Given the description of an element on the screen output the (x, y) to click on. 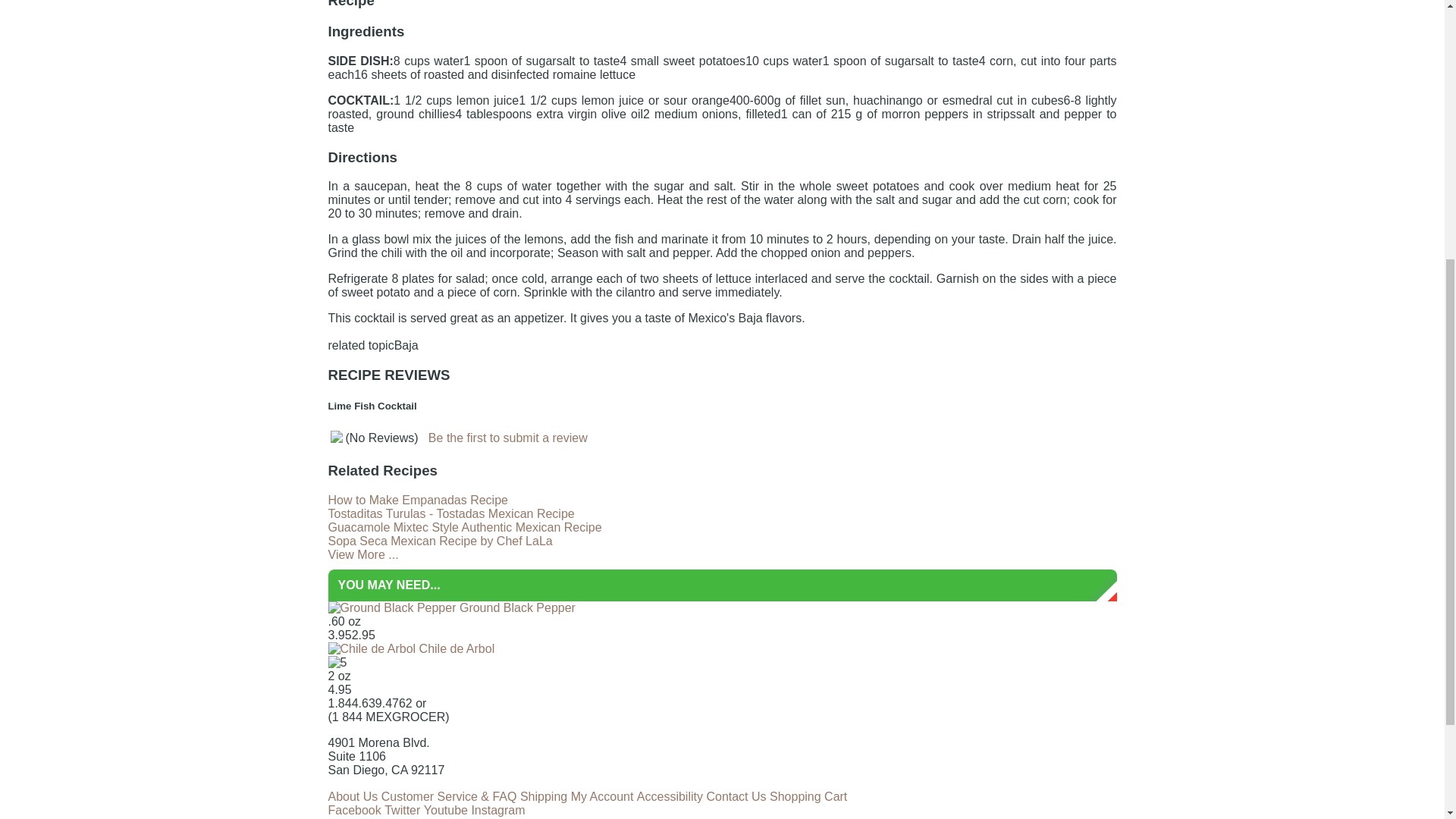
Tostaditas Turulas - Tostadas Mexican Recipe (450, 513)
Sopa Seca Mexican Recipe by Chef LaLa (439, 540)
Be the first to submit a review (508, 437)
View More ... (362, 554)
How to Make Empanadas Recipe (416, 499)
Chile de Arbol (411, 648)
Ground Black Pepper (451, 607)
Guacamole Mixtec Style Authentic Mexican Recipe (464, 526)
